Given the description of an element on the screen output the (x, y) to click on. 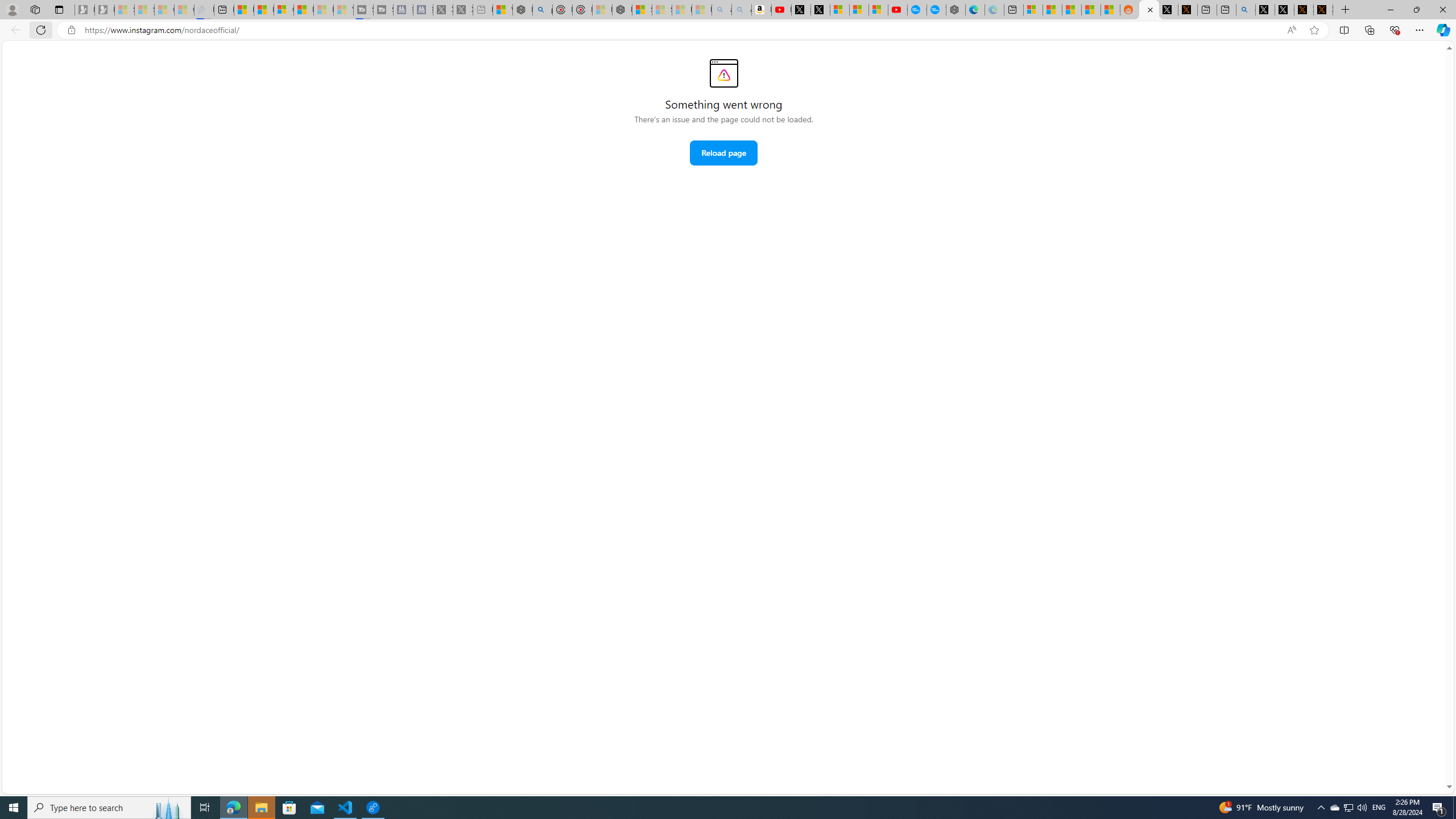
Nordace - Nordace Siena Is Not An Ordinary Backpack (622, 9)
Amazon Echo Dot PNG - Search Images - Sleeping (741, 9)
X - Sleeping (462, 9)
amazon - Search - Sleeping (721, 9)
X Privacy Policy (1323, 9)
